Given the description of an element on the screen output the (x, y) to click on. 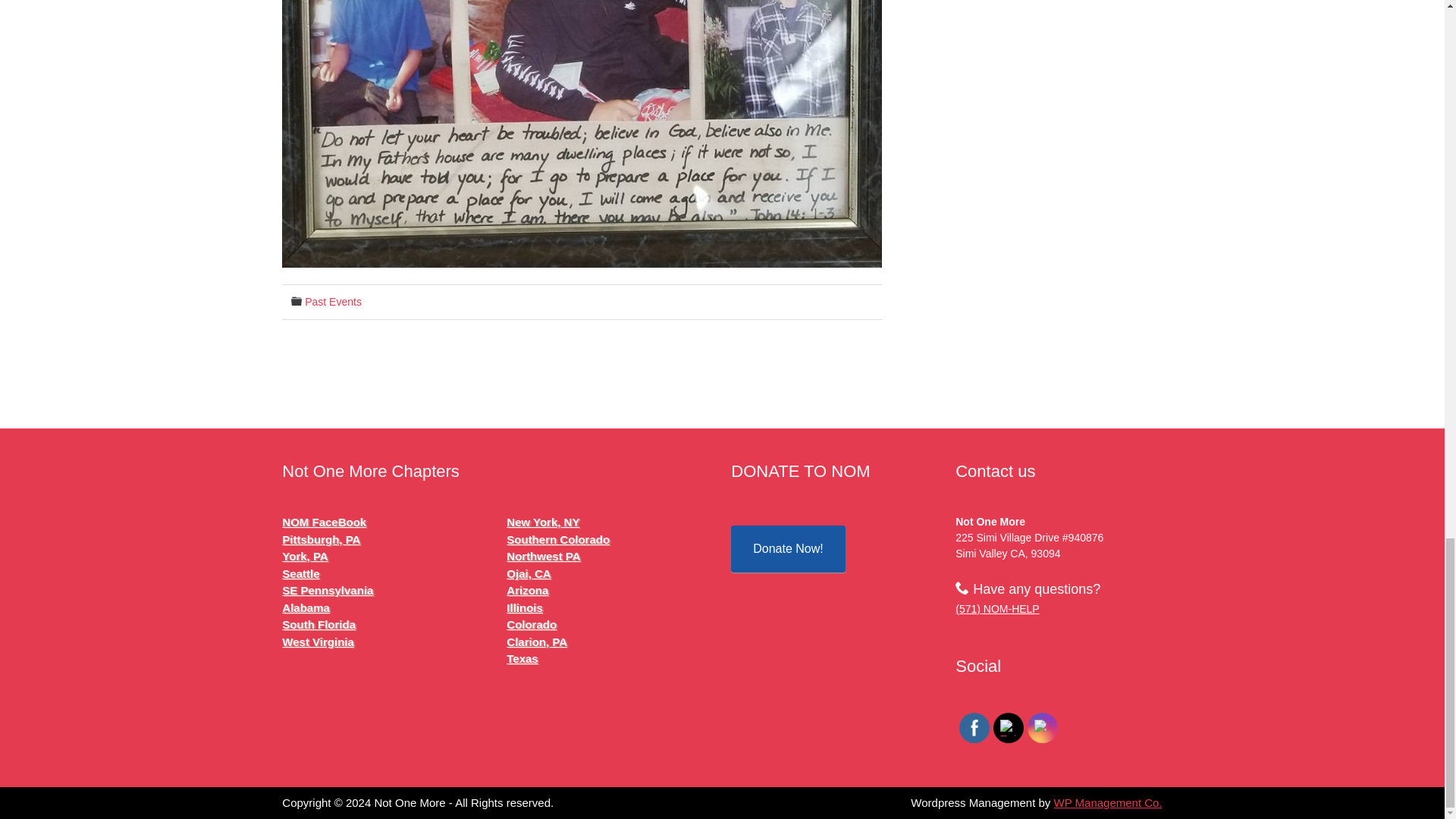
Northwest PA (542, 555)
York, PA (304, 555)
Alabama (306, 607)
Seattle (300, 573)
NOM FaceBook (324, 521)
South Florida (318, 624)
New York, NY (542, 521)
Southern Colorado (558, 539)
West Virginia (317, 641)
Facebook (974, 727)
